Given the description of an element on the screen output the (x, y) to click on. 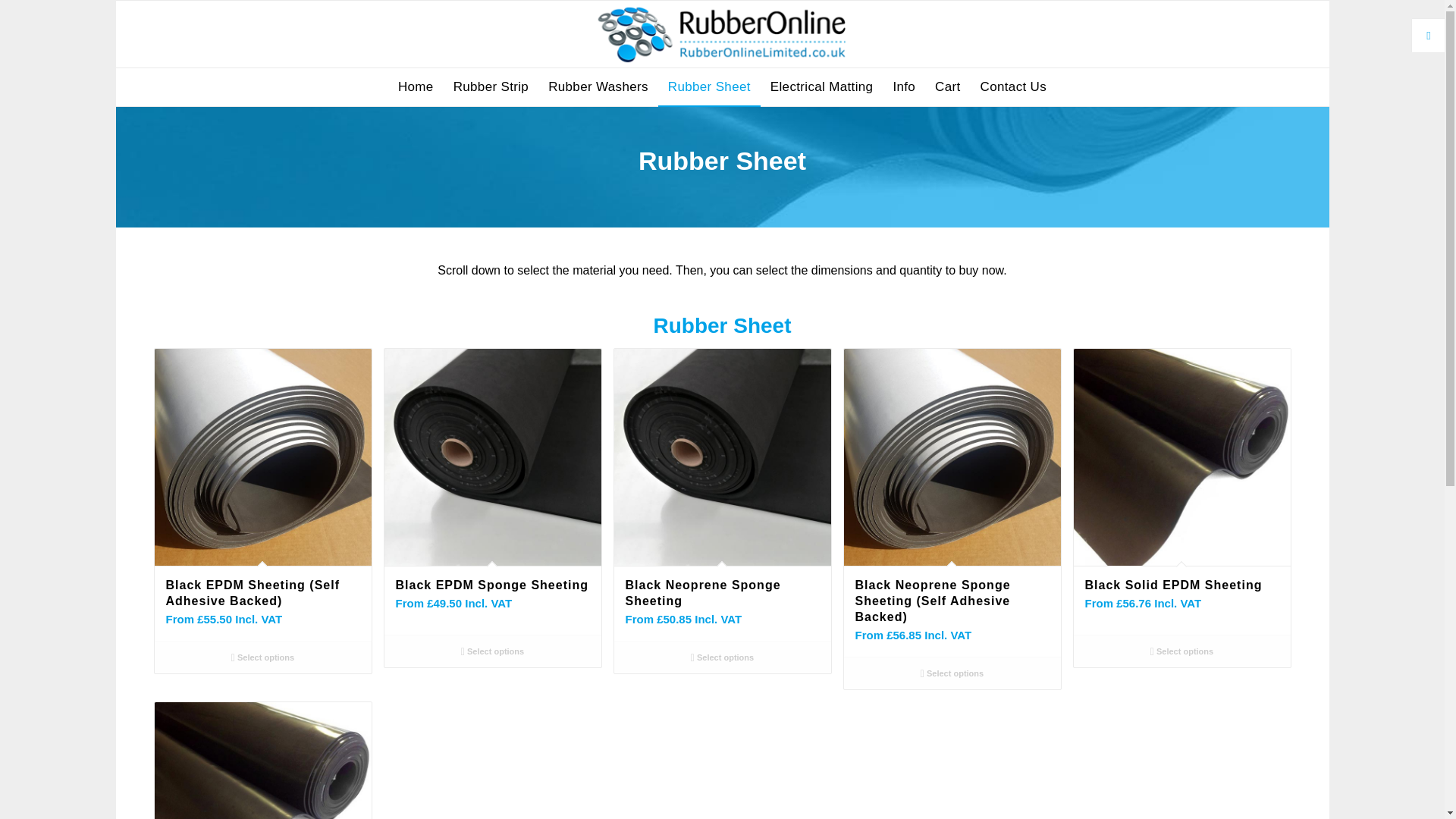
Electrical Matting (821, 86)
Rubber Sheet (709, 86)
Info (903, 86)
Rubber Sheet (709, 86)
Select options (262, 657)
Home (416, 86)
Rubber Strip (491, 86)
Cart (946, 86)
Rubber Washers (598, 86)
Rubber Online Limited (721, 33)
Cart (946, 86)
Electrical Matting (821, 86)
Home (416, 86)
Rubber Washers (598, 86)
Contact Us (1014, 86)
